Given the description of an element on the screen output the (x, y) to click on. 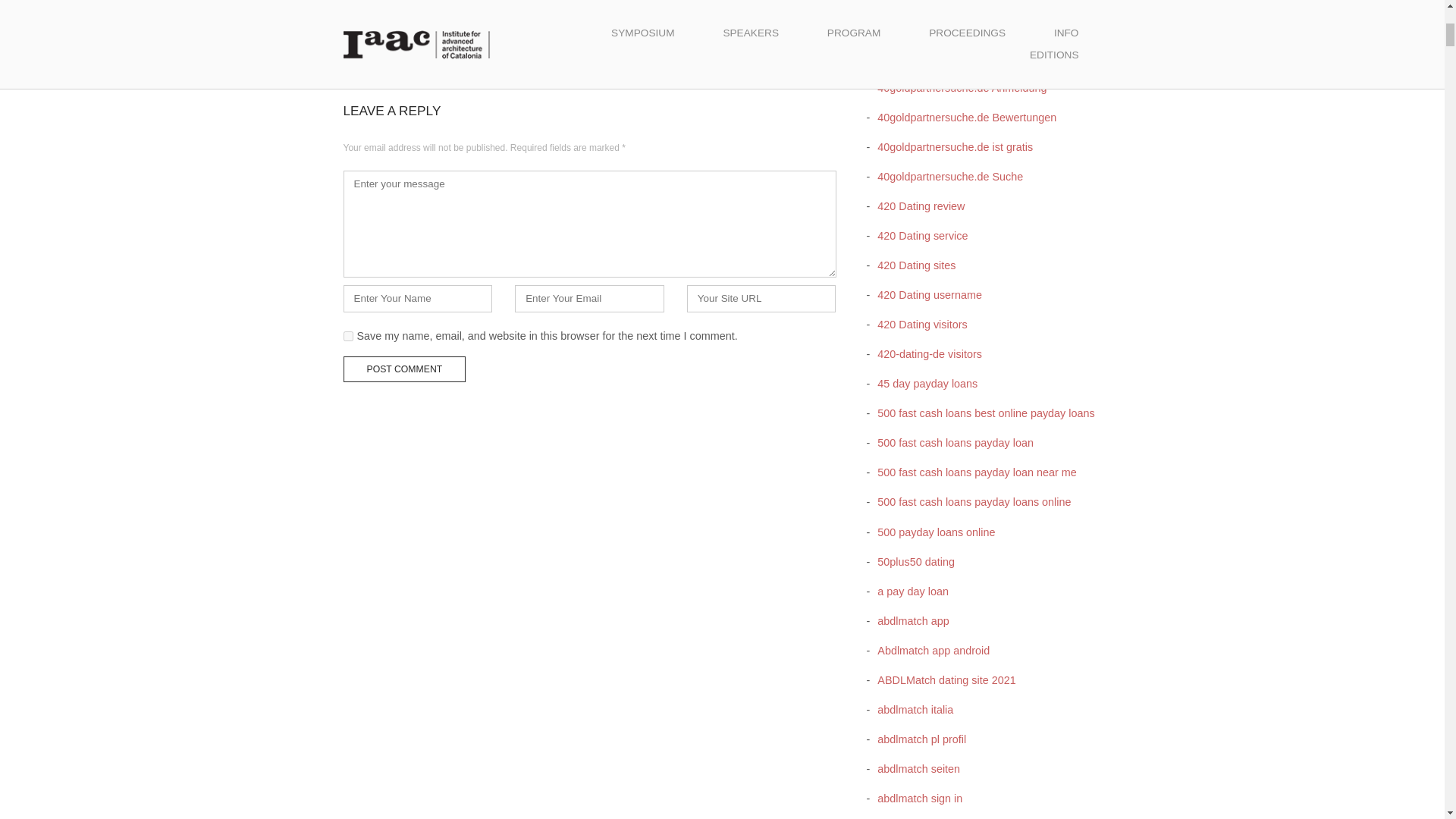
Post Comment (403, 369)
Post Comment (403, 369)
yes (347, 336)
Next Post (804, 55)
